Given the description of an element on the screen output the (x, y) to click on. 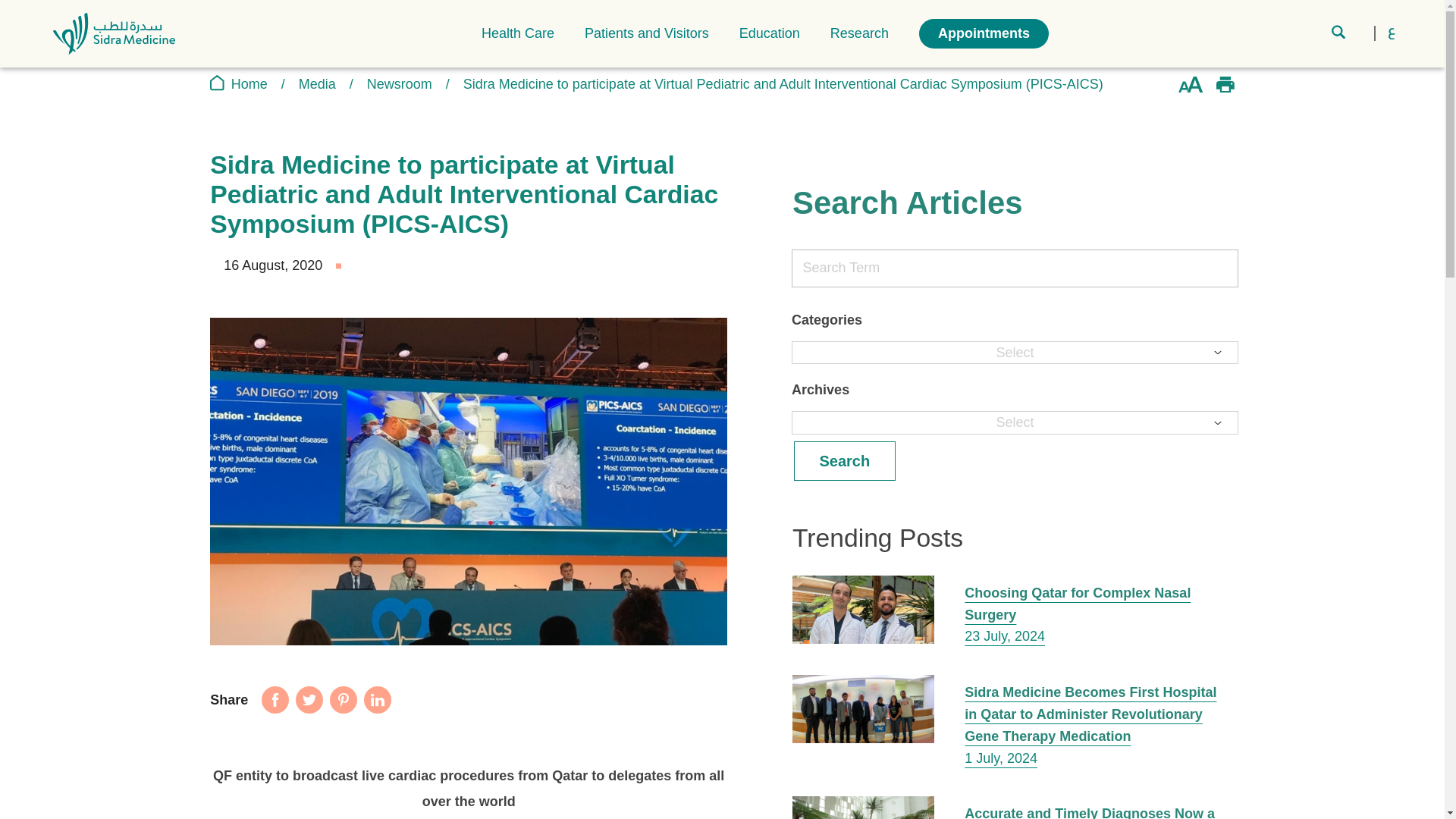
Research (858, 33)
Patients and Visitors (647, 33)
Education (769, 33)
Health Care (517, 33)
Appointments (983, 33)
